Given the description of an element on the screen output the (x, y) to click on. 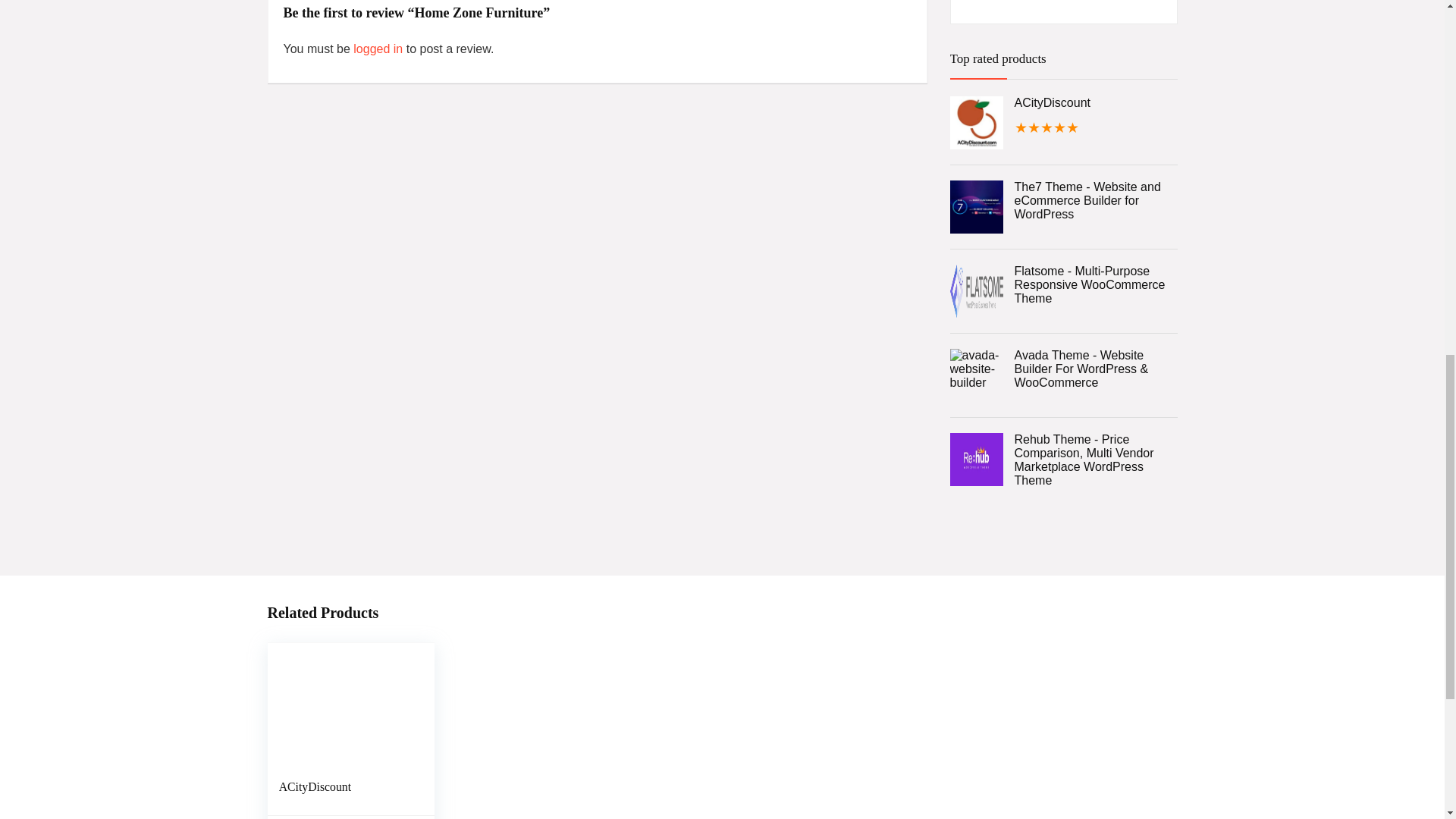
logged in (379, 48)
ACityDiscount (1062, 102)
Flatsome - Multi-Purpose Responsive WooCommerce Theme (1062, 284)
ACityDiscount (314, 786)
Rated 5 out of 5 (1062, 128)
The7 Theme - Website and eCommerce Builder for WordPress (1062, 200)
